Given the description of an element on the screen output the (x, y) to click on. 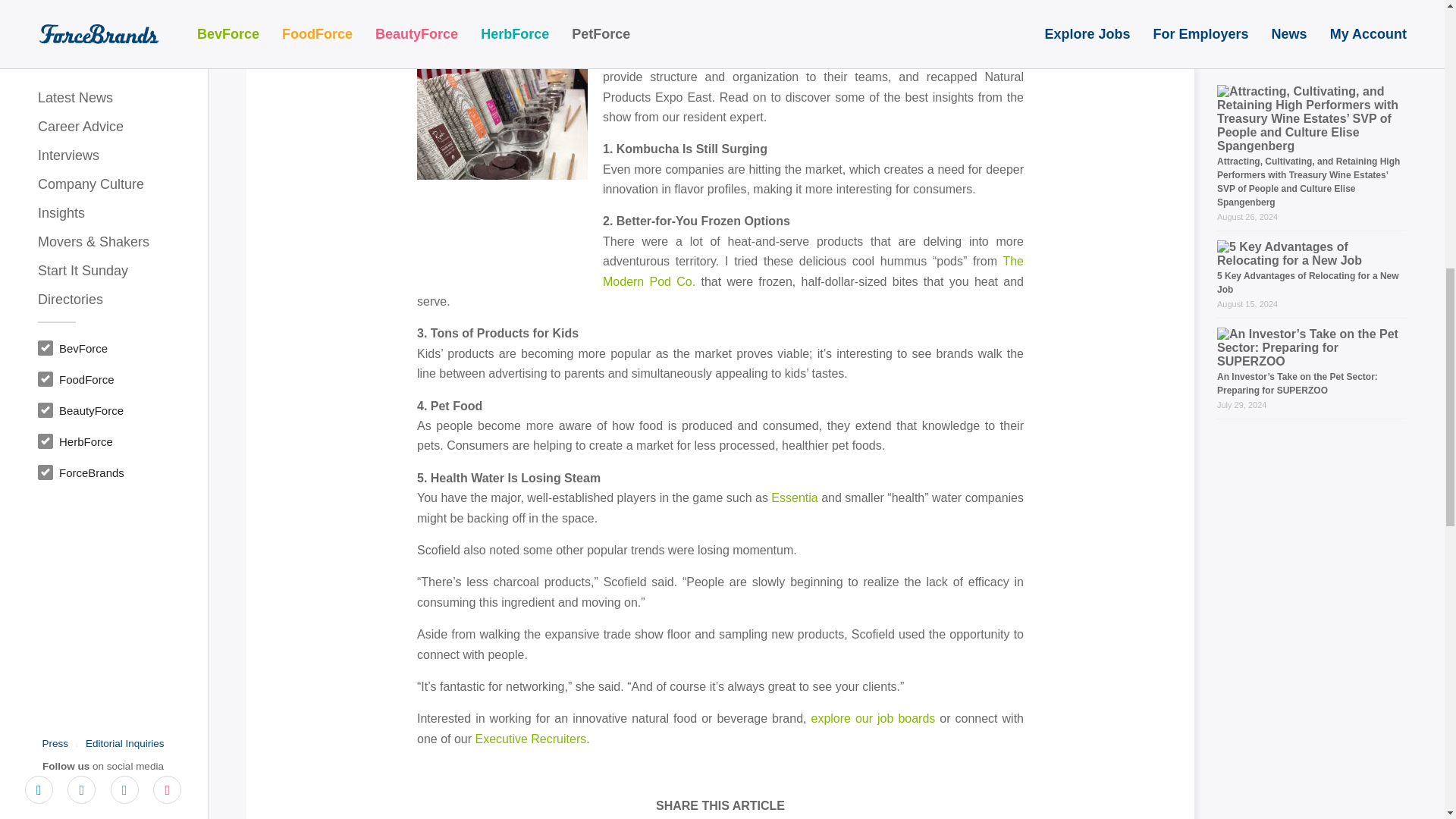
Essentia (793, 497)
The Modern Pod Co. (812, 270)
explore our job boards (872, 717)
Executive Recruiters (530, 738)
